Given the description of an element on the screen output the (x, y) to click on. 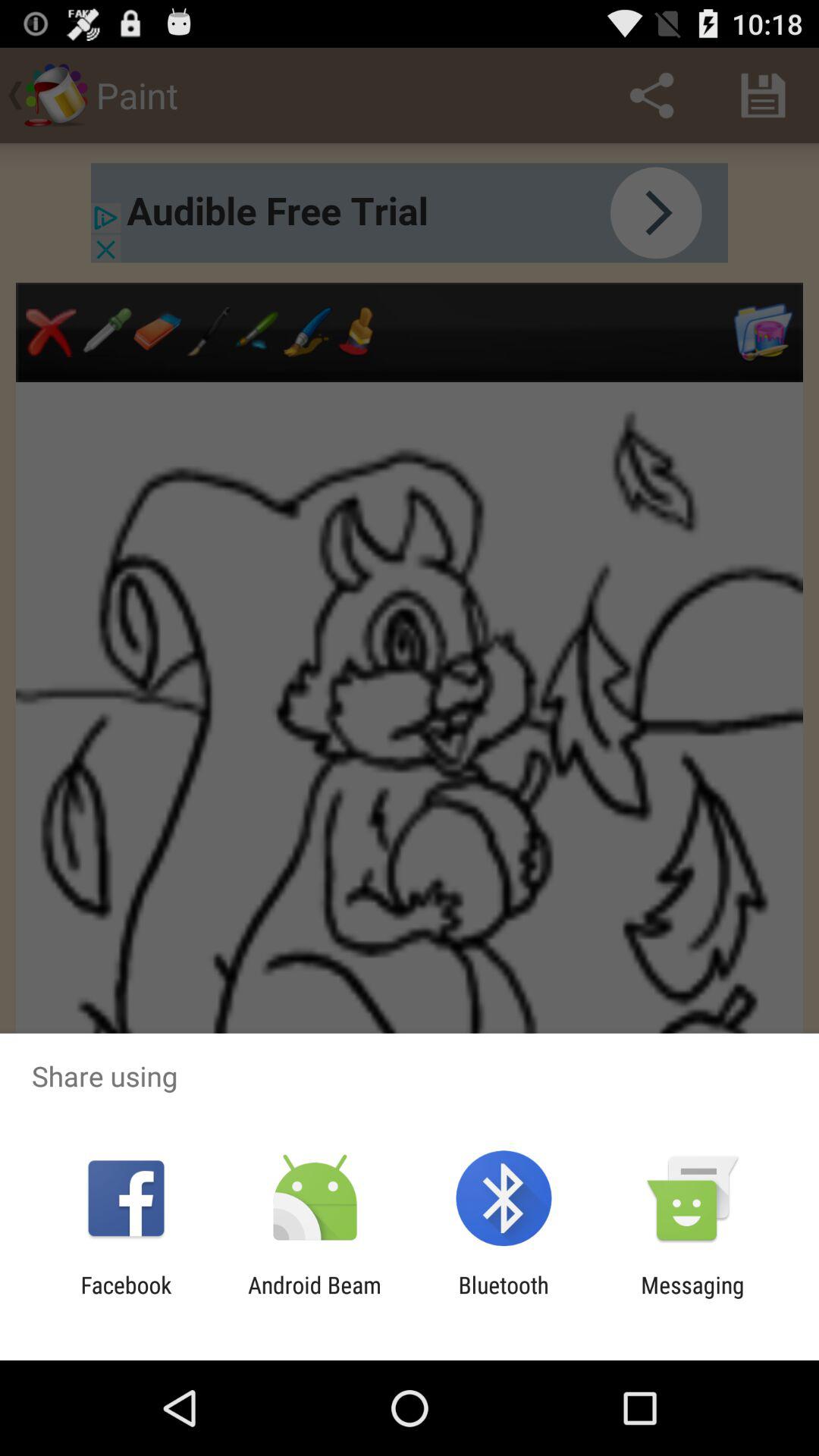
launch the item next to the bluetooth icon (692, 1298)
